Given the description of an element on the screen output the (x, y) to click on. 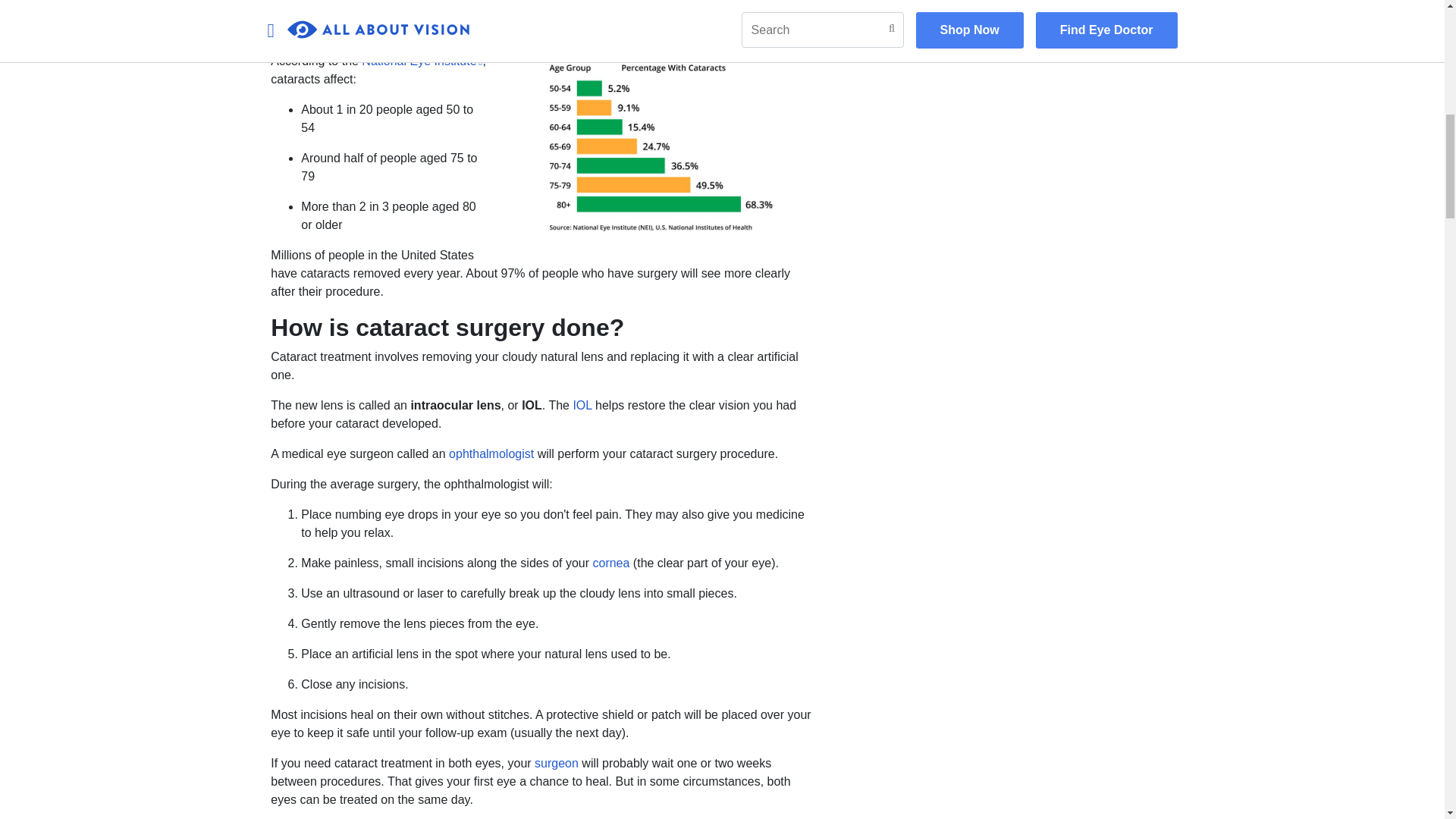
ophthalmologist (491, 453)
 National Eye Institute (420, 60)
cornea (610, 562)
IOL (581, 404)
surgeon (556, 762)
